Given the description of an element on the screen output the (x, y) to click on. 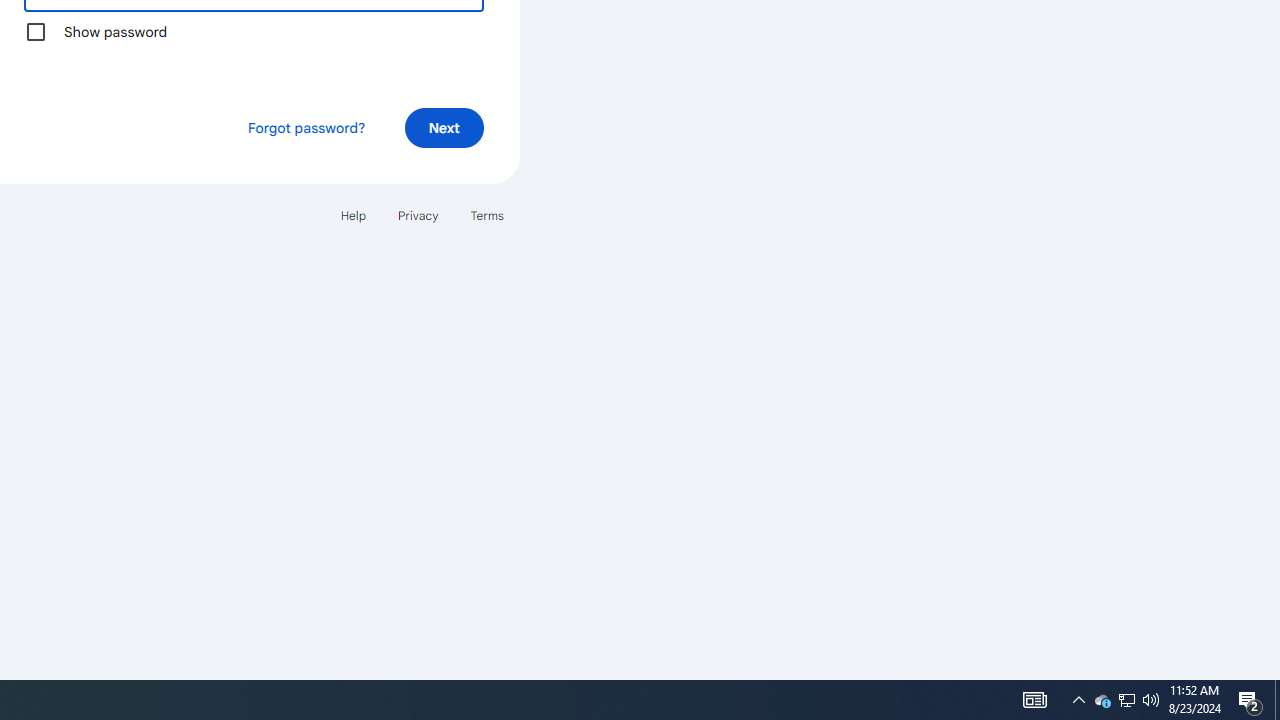
Show password (35, 31)
Forgot password? (305, 127)
